Given the description of an element on the screen output the (x, y) to click on. 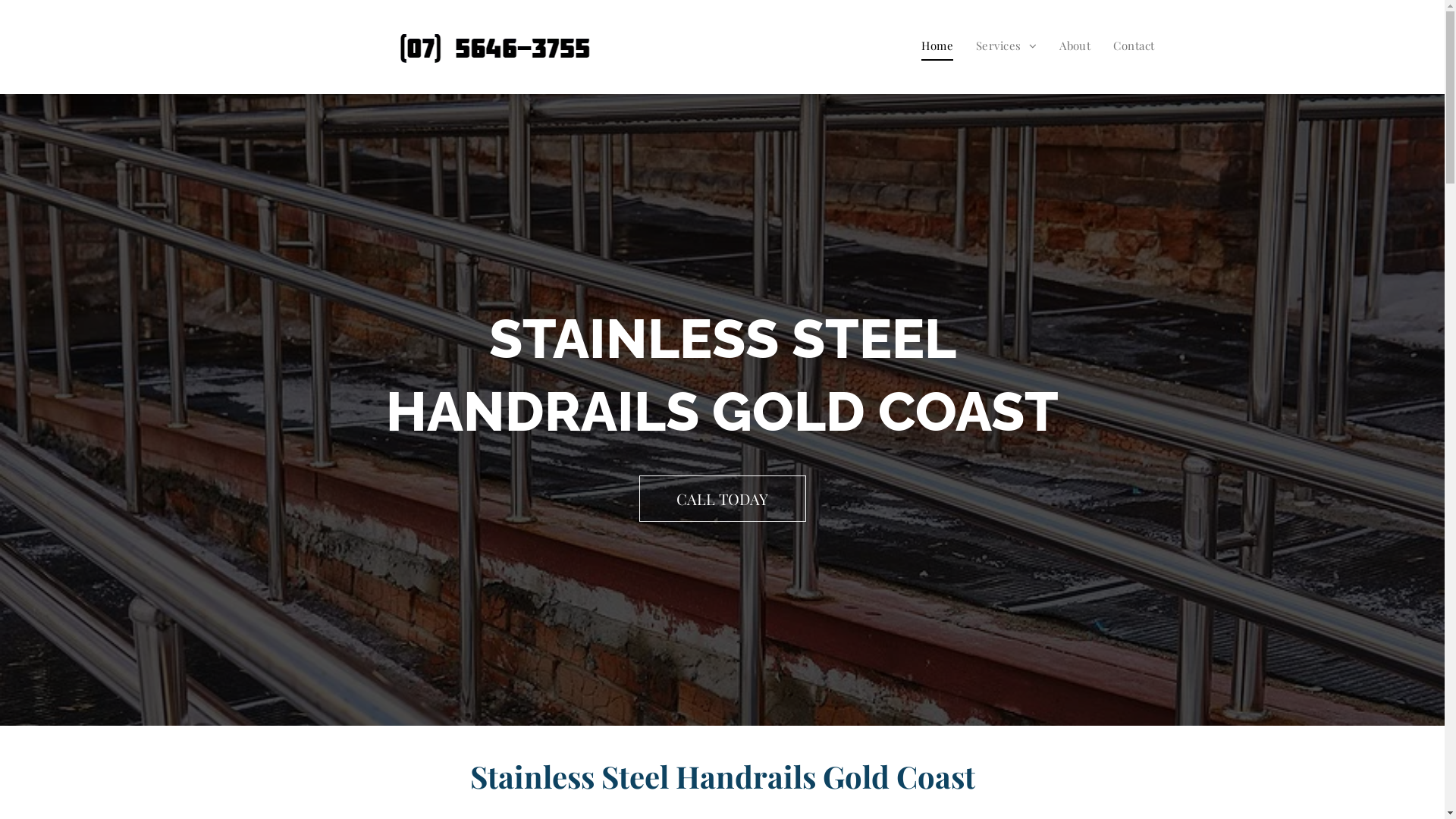
Contact Element type: text (1133, 45)
CALL TODAY Element type: text (721, 497)
About Element type: text (1074, 45)
Services Element type: text (1006, 45)
Home Element type: text (937, 45)
